Given the description of an element on the screen output the (x, y) to click on. 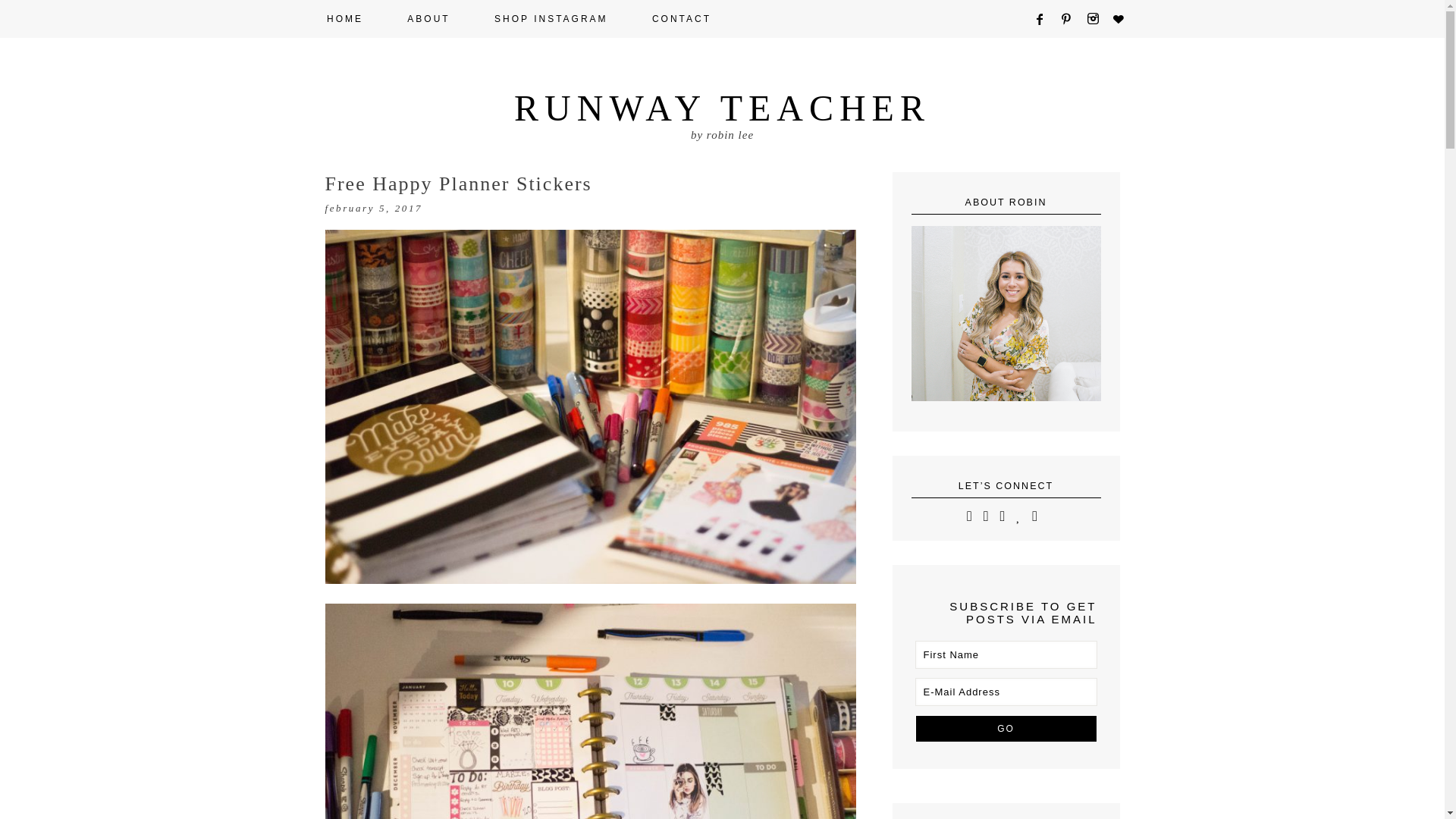
ABOUT (427, 18)
CONTACT (680, 18)
Instagram (1097, 19)
Pinterest (1071, 19)
RUNWAY TEACHER (721, 107)
HOME (344, 18)
Bloglovin (1123, 19)
Go (1005, 728)
Facebook (1045, 19)
SHOP INSTAGRAM (550, 18)
